Given the description of an element on the screen output the (x, y) to click on. 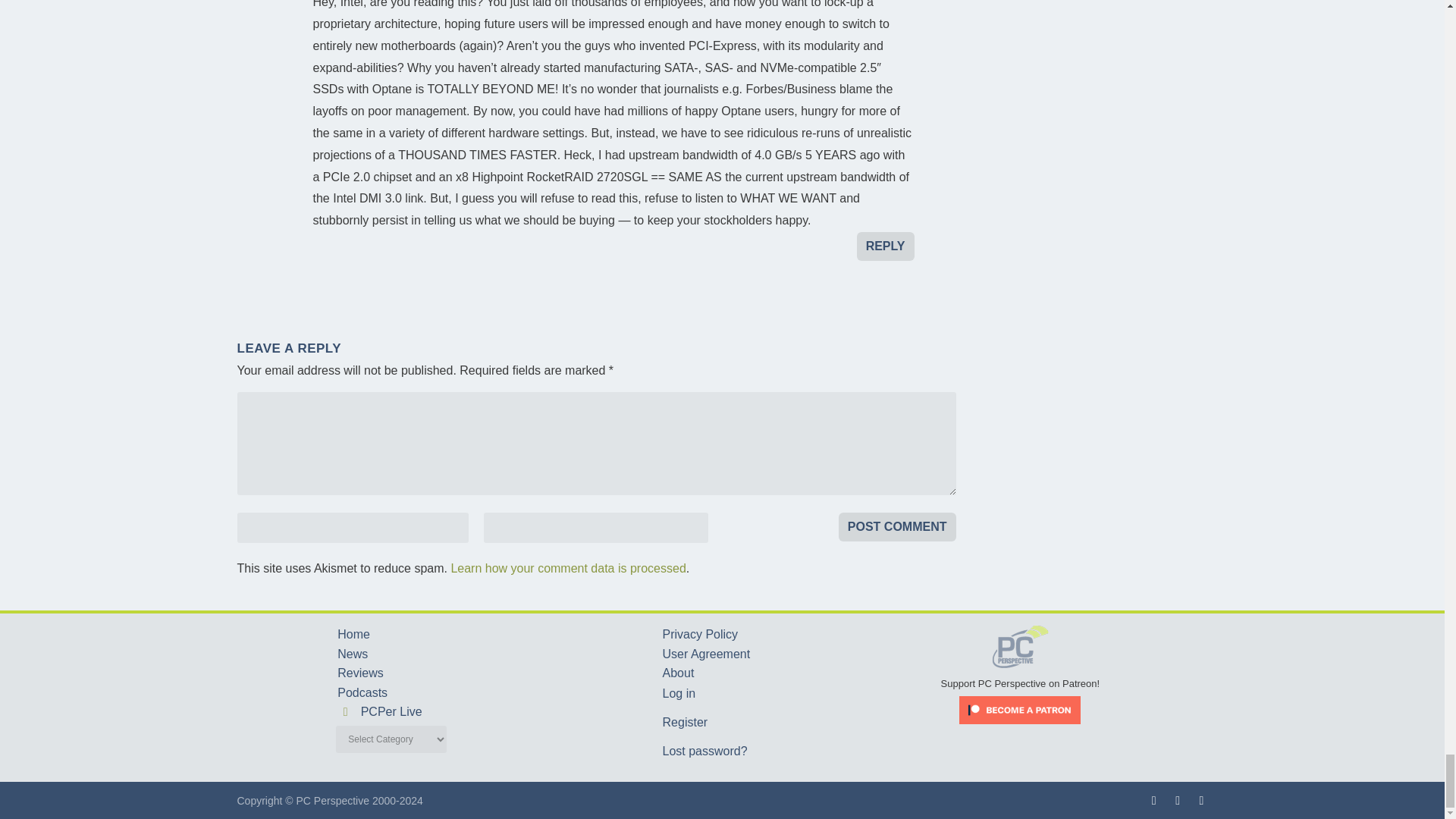
Support PC Perspective on Patreon! (1020, 676)
Post Comment (897, 526)
